Given the description of an element on the screen output the (x, y) to click on. 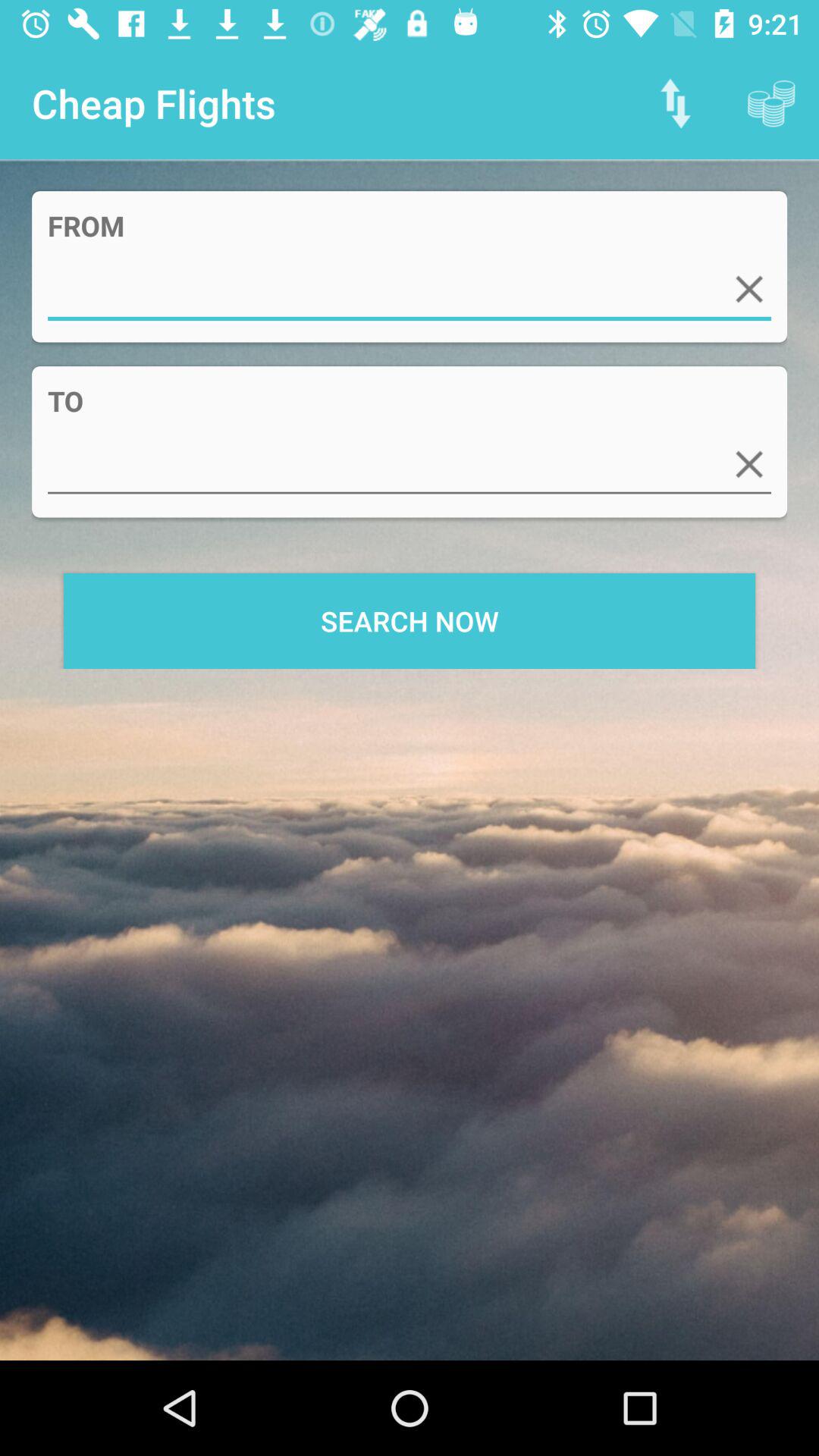
enter destination (409, 464)
